Given the description of an element on the screen output the (x, y) to click on. 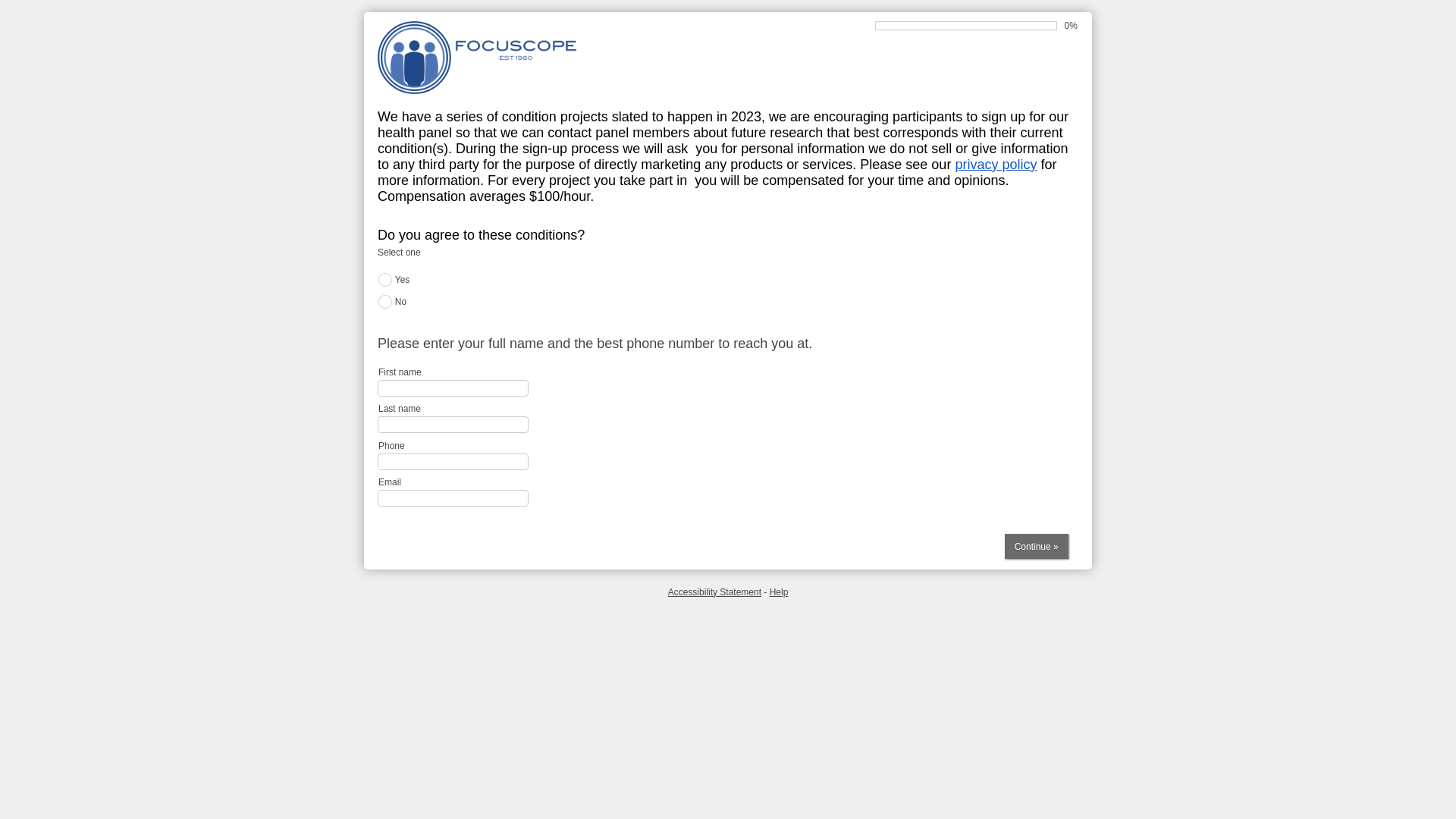
privacy policy (995, 164)
question (727, 235)
radio (385, 301)
Help (779, 592)
Accessibility Statement (714, 592)
instructions (727, 252)
radio (385, 279)
question (727, 343)
